Given the description of an element on the screen output the (x, y) to click on. 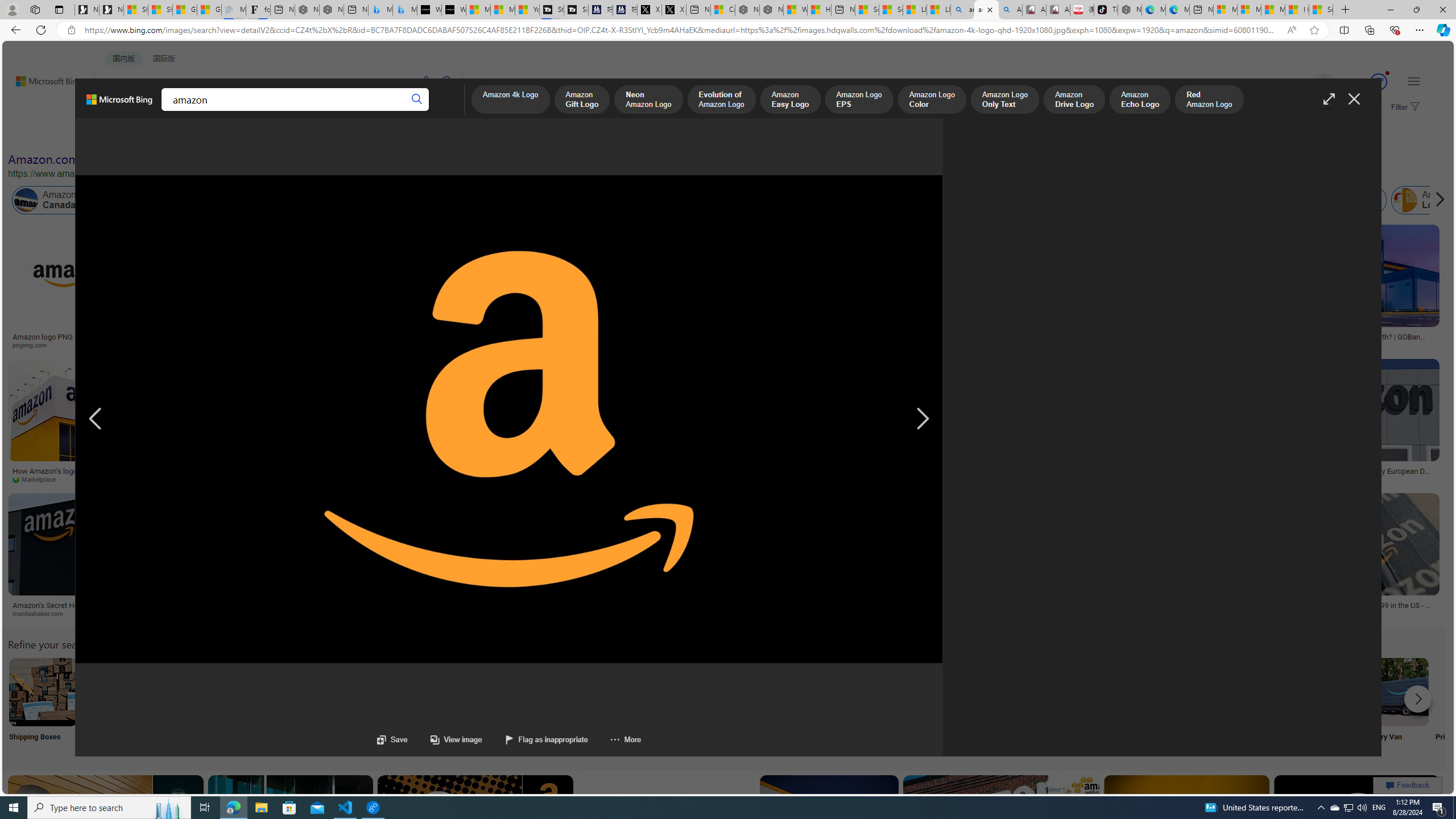
latimes.com (925, 612)
Amazon Logo Color (931, 100)
Amazon Kids (239, 200)
Search using voice (426, 80)
Amazon Kids (263, 199)
Amazon Visa Card Login Visa Card Login (1093, 706)
Amazon Sign in My Account Sign My Account (718, 706)
People (295, 135)
Amazon Delivery Van (1393, 691)
Red Amazon Logo (1208, 100)
